Given the description of an element on the screen output the (x, y) to click on. 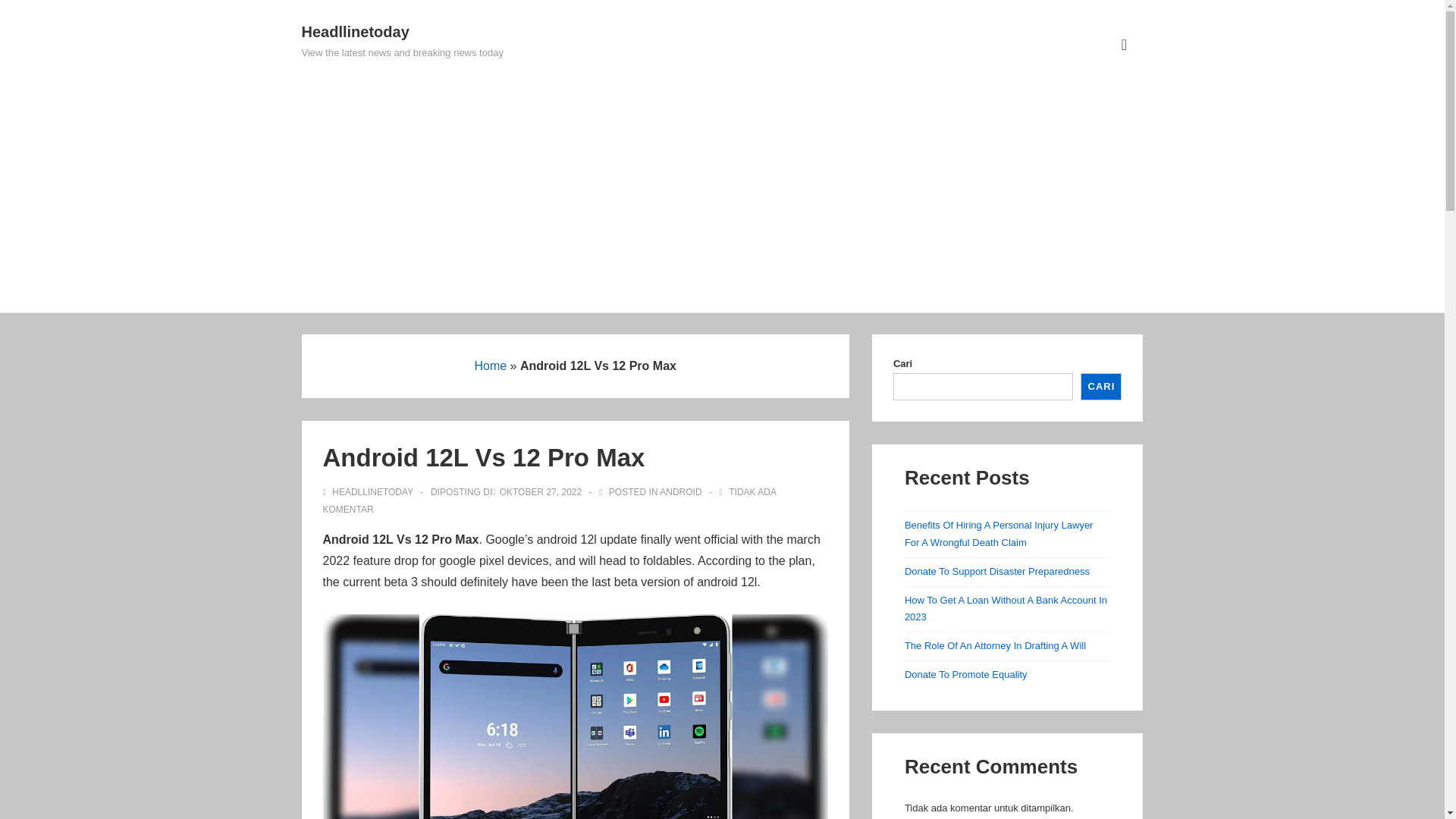
The Role Of An Attorney In Drafting A Will (995, 645)
ANDROID (680, 491)
CARI (1100, 386)
Headllinetoday (355, 31)
How To Get A Loan Without A Bank Account In 2023 (1005, 608)
TIDAK ADA KOMENTAR (549, 500)
Donate To Promote Equality (965, 674)
HEADLLINETODAY (369, 491)
Lihat semua posting oleh Headllinetoday (369, 491)
OKTOBER 27, 2022 (540, 491)
Android 12L Vs 12 Pro Max (540, 491)
MENU (1123, 44)
Home (490, 365)
Donate To Support Disaster Preparedness (996, 571)
